Given the description of an element on the screen output the (x, y) to click on. 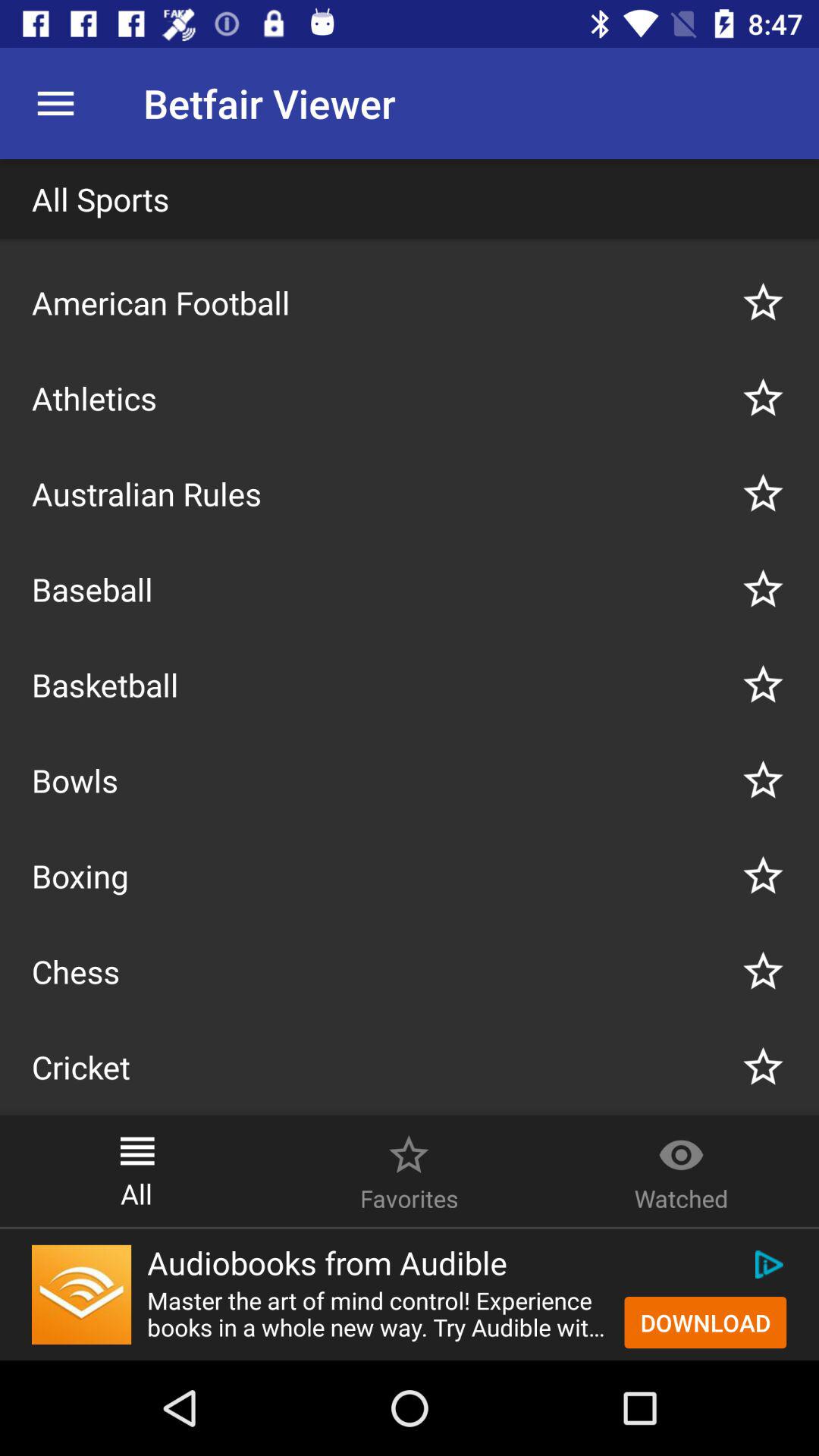
click on favorite icon right to american football (763, 302)
click on icon above watched (681, 1147)
click on icon above download (767, 1264)
click on favorite icon right to chess (763, 971)
click the button on the bottom right corner of the web page (705, 1321)
